Given the description of an element on the screen output the (x, y) to click on. 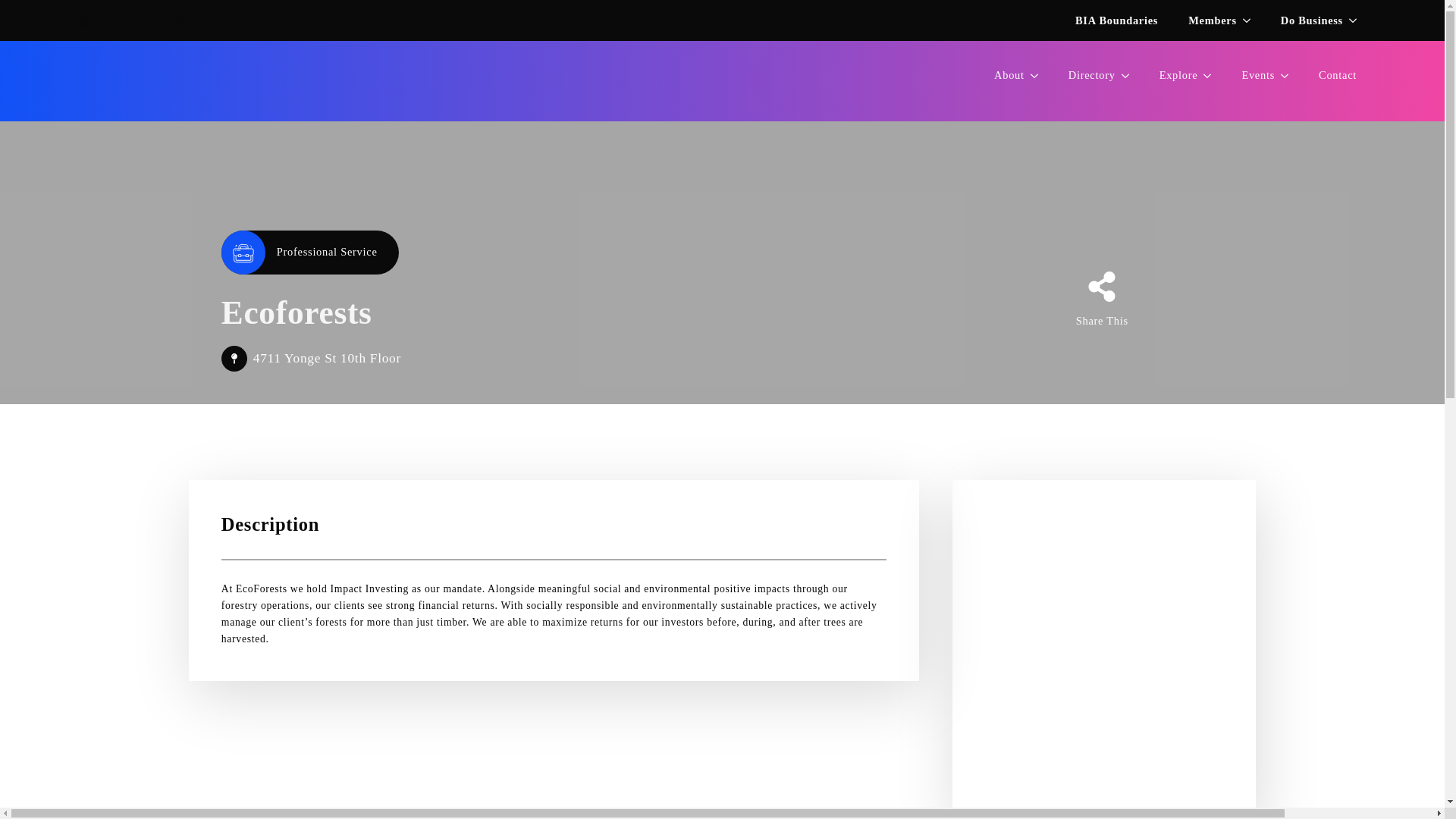
Directory (1083, 74)
About (1001, 74)
Do Business (722, 80)
BIA Boundaries (1303, 20)
Members (1116, 20)
